Given the description of an element on the screen output the (x, y) to click on. 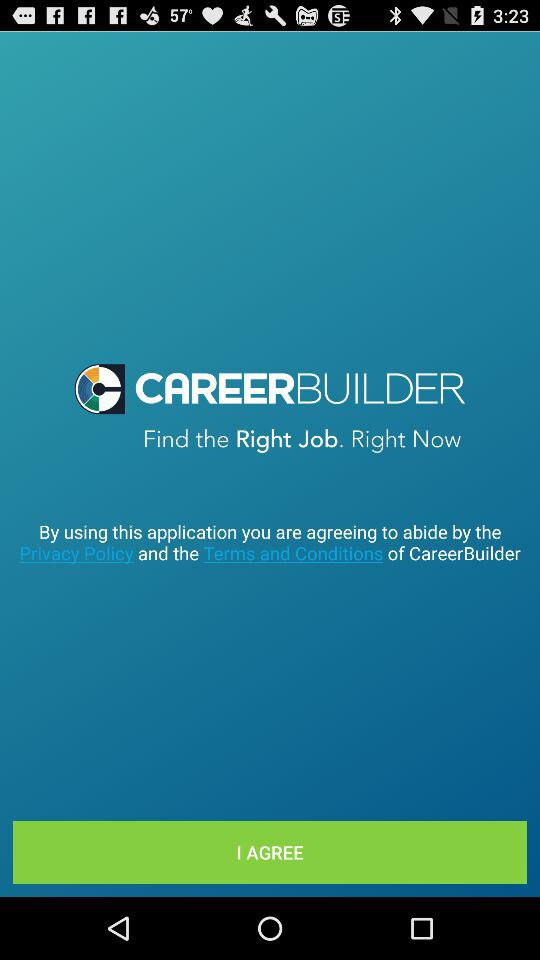
open the icon above i agree (269, 542)
